Given the description of an element on the screen output the (x, y) to click on. 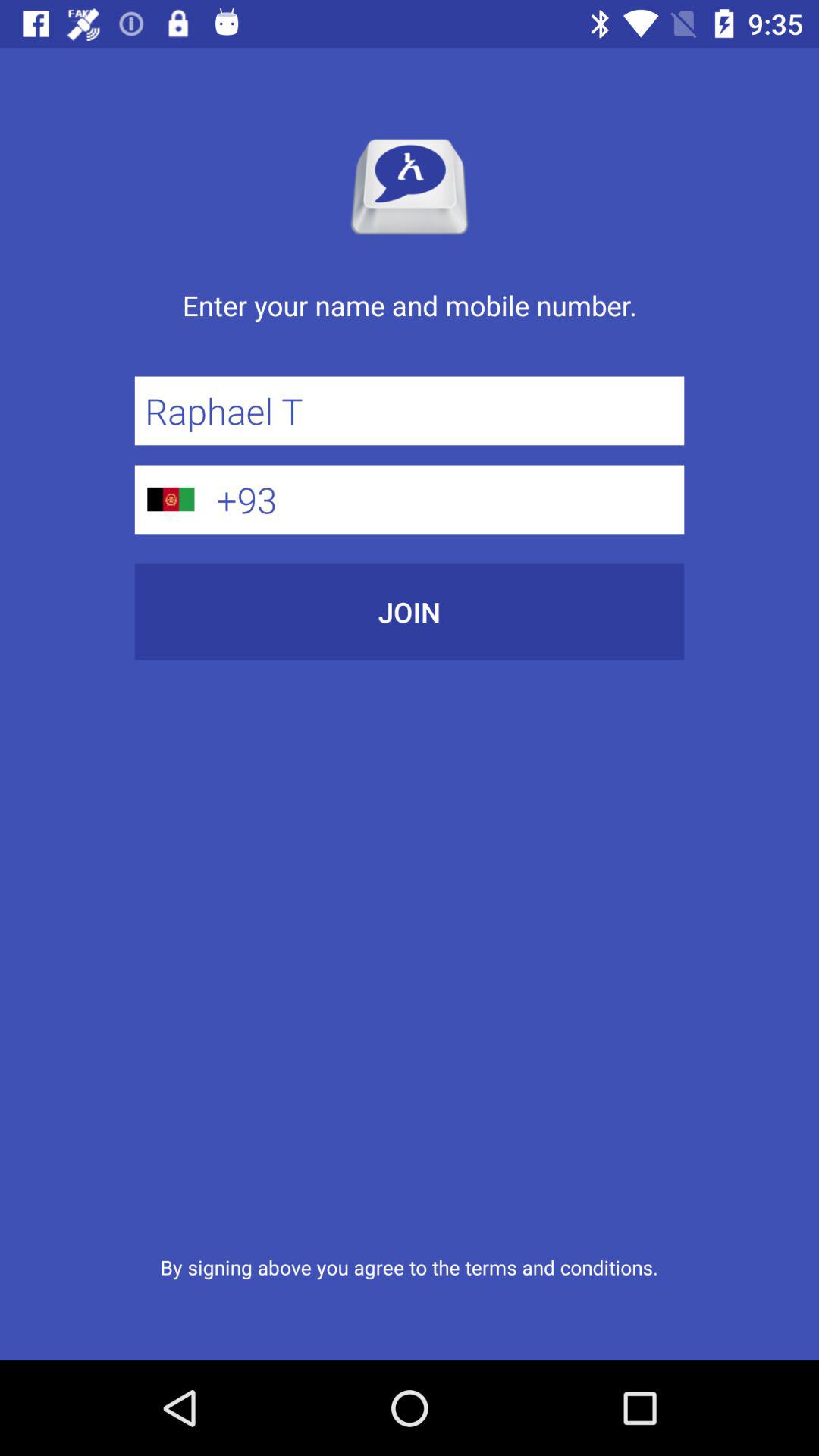
scroll to by signing above (409, 1267)
